Given the description of an element on the screen output the (x, y) to click on. 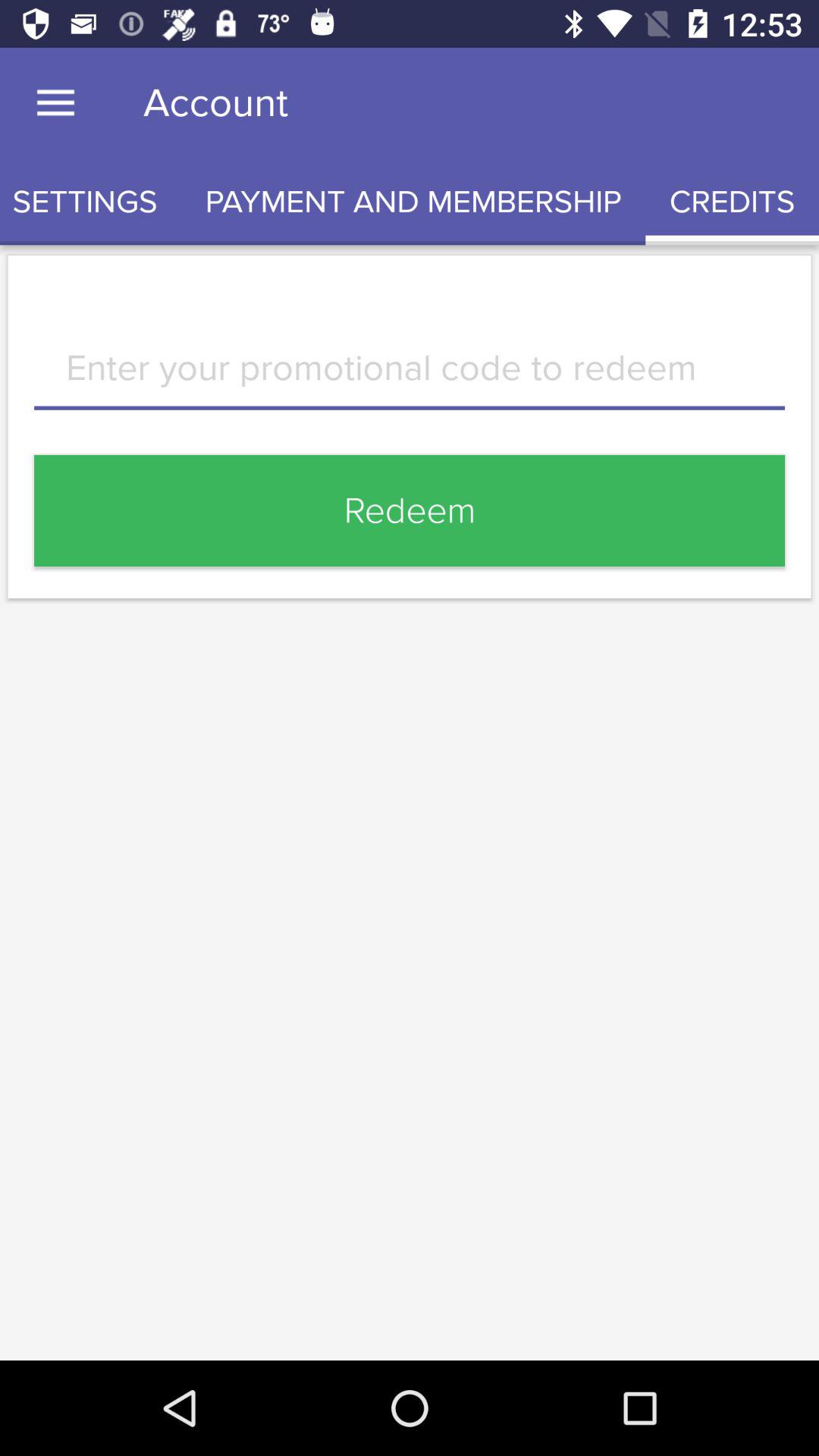
turn on item below the settings icon (409, 379)
